Given the description of an element on the screen output the (x, y) to click on. 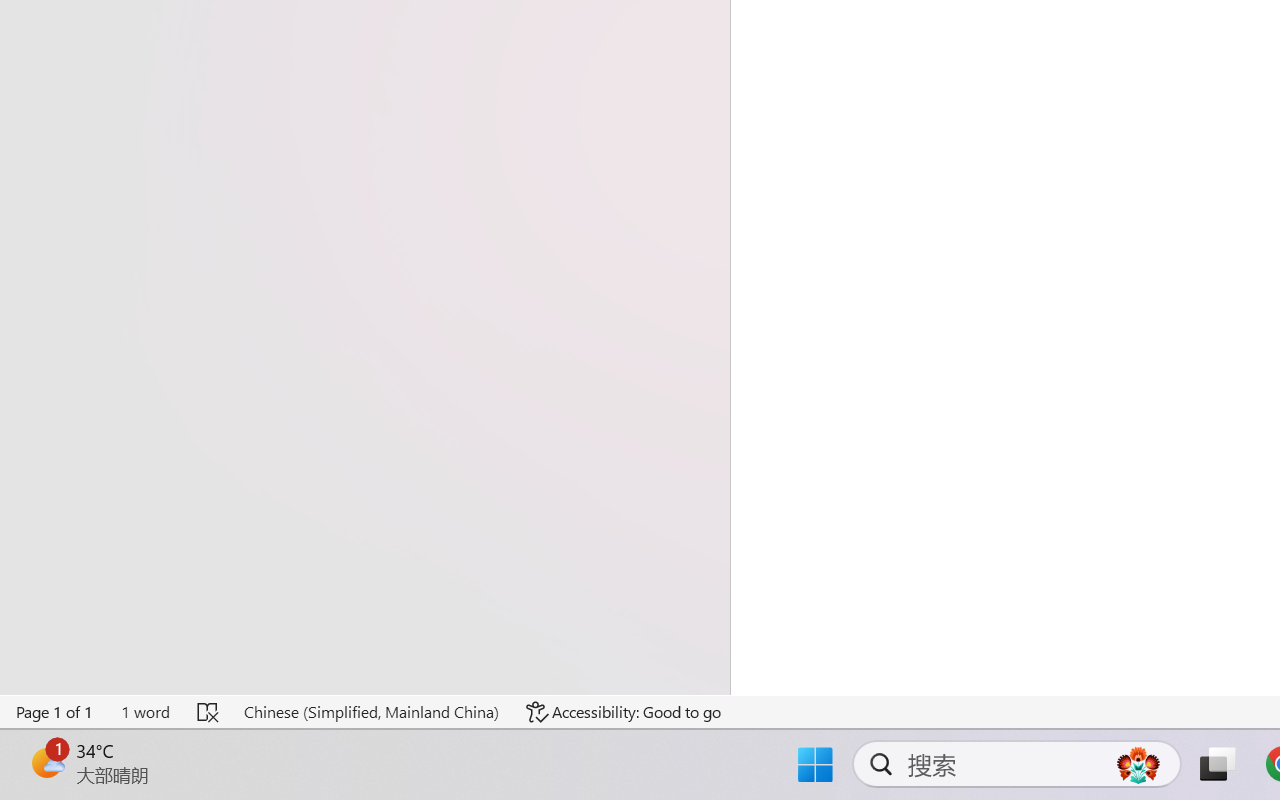
Spelling and Grammar Check Errors (208, 712)
Language Chinese (Simplified, Mainland China) (370, 712)
